Given the description of an element on the screen output the (x, y) to click on. 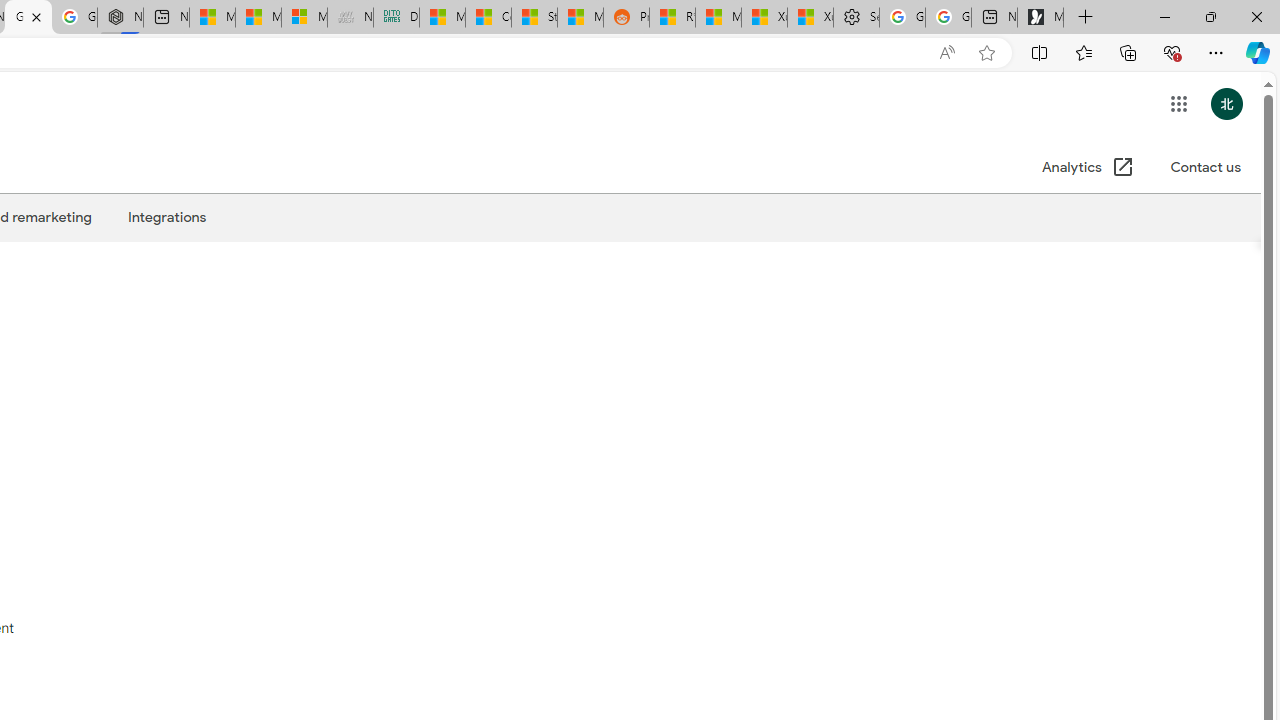
Integrations (166, 217)
R******* | Trusted Community Engagement and Contributions (672, 17)
Contact us (1205, 168)
